Given the description of an element on the screen output the (x, y) to click on. 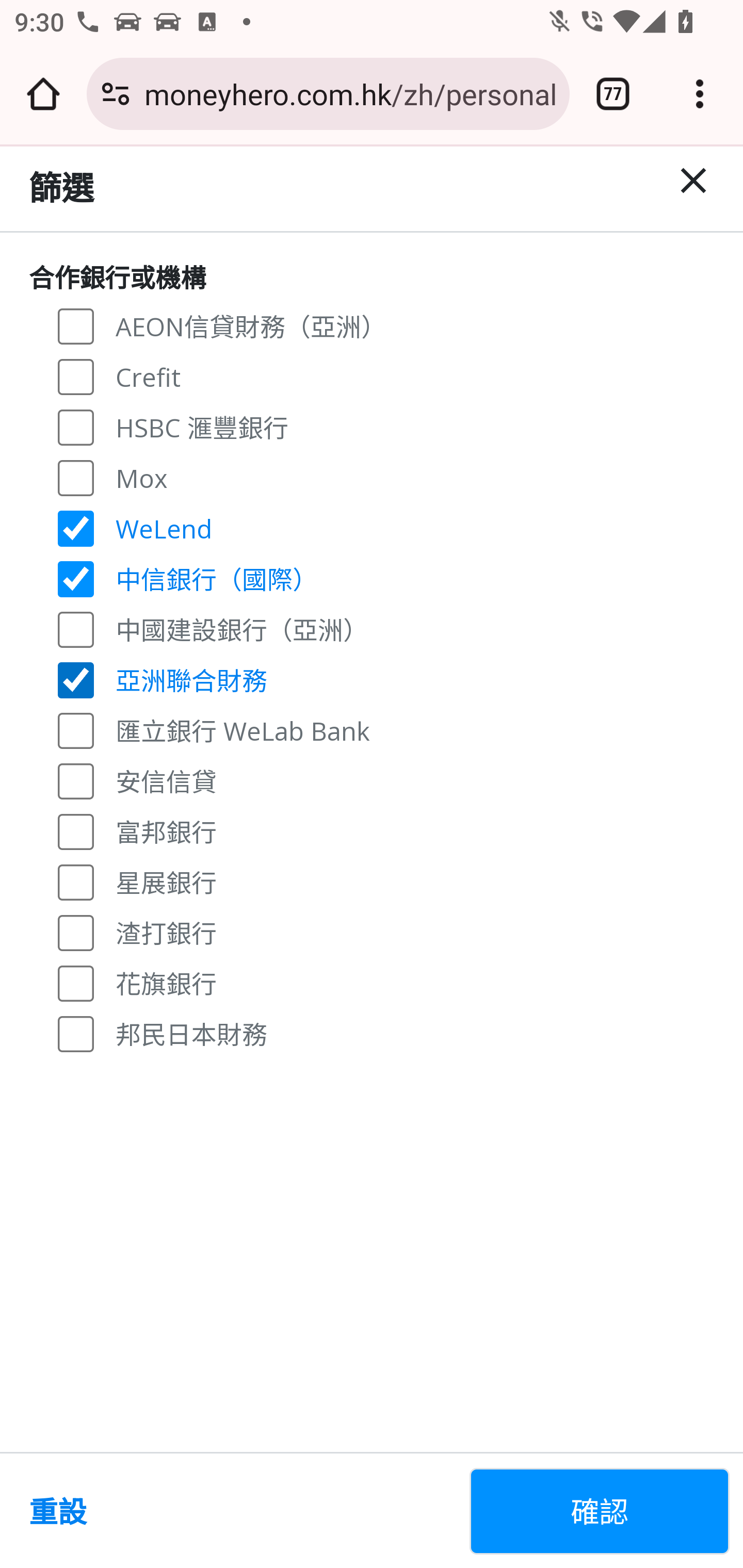
Open the home page (43, 93)
Connection is secure (115, 93)
Switch or close tabs (612, 93)
Customize and control Google Chrome (699, 93)
AEON信貸財務（亞洲） (76, 325)
Crefit (76, 376)
HSBC 滙豐銀行 (76, 426)
Mox (76, 476)
WeLend (76, 528)
中信銀行（國際） (76, 578)
中國建設銀行（亞洲） (76, 628)
亞洲聯合財務 (76, 678)
匯立銀行 WeLab Bank (76, 730)
安信信貸 (76, 780)
富邦銀行 (76, 830)
星展銀行 (76, 881)
渣打銀行 (76, 932)
花旗銀行 (76, 982)
邦民日本財務 (76, 1033)
重設 (241, 1511)
確認 (600, 1511)
